Given the description of an element on the screen output the (x, y) to click on. 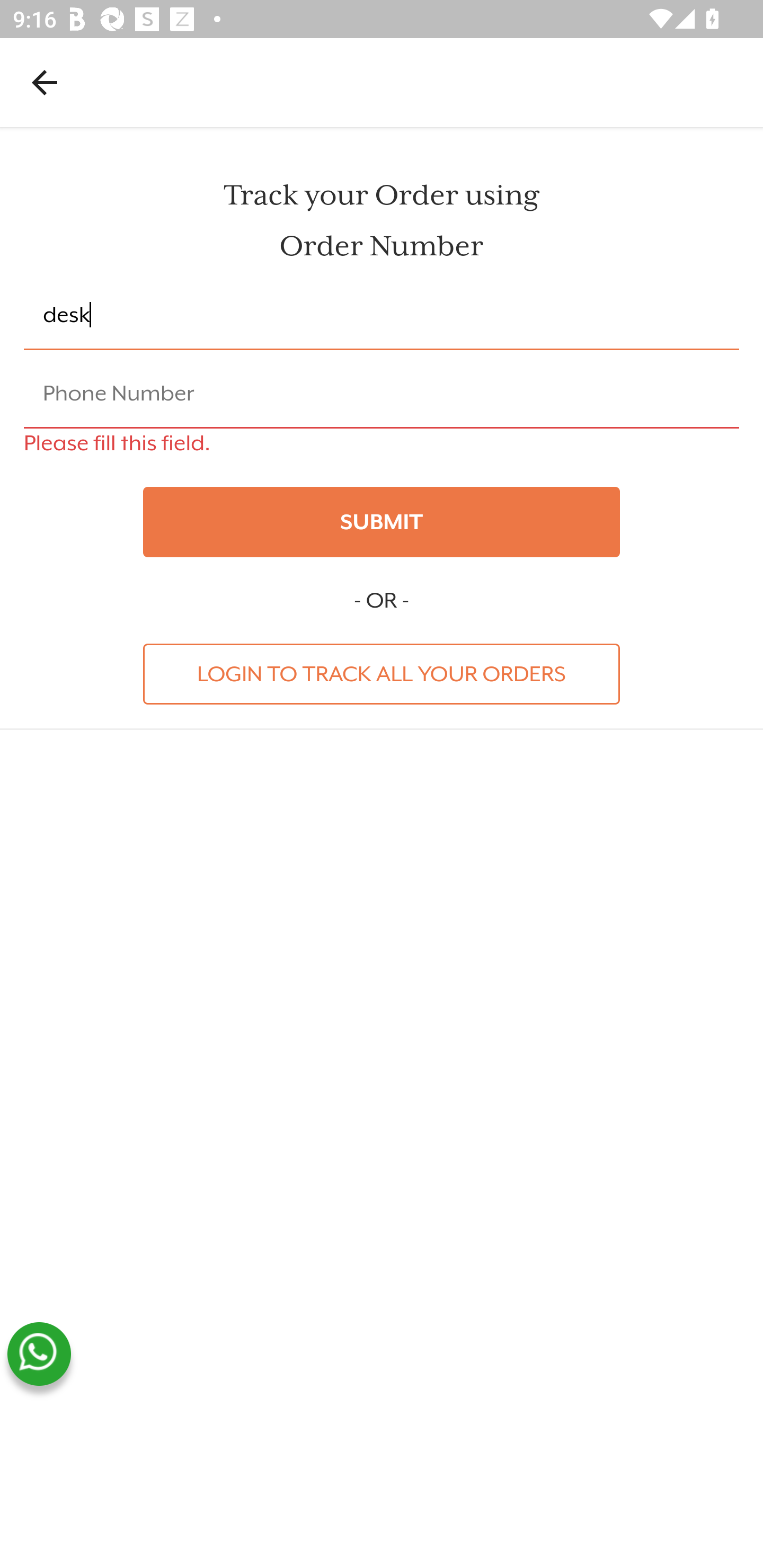
Navigate up (44, 82)
desk (381, 315)
SUBMIT (381, 522)
LOGIN TO TRACK ALL YOUR ORDERS (381, 673)
whatsapp (38, 1353)
